Given the description of an element on the screen output the (x, y) to click on. 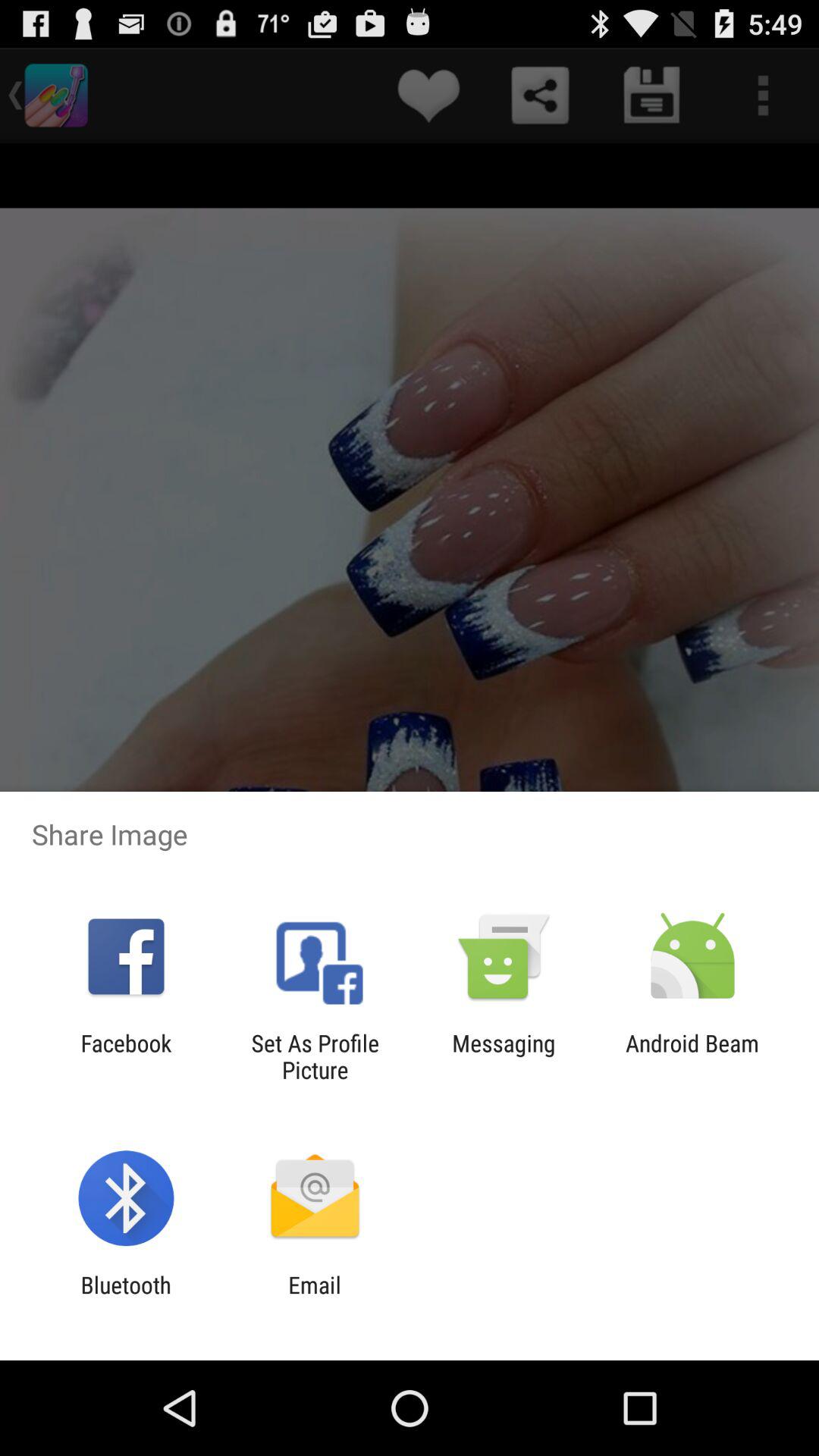
tap messaging (503, 1056)
